Given the description of an element on the screen output the (x, y) to click on. 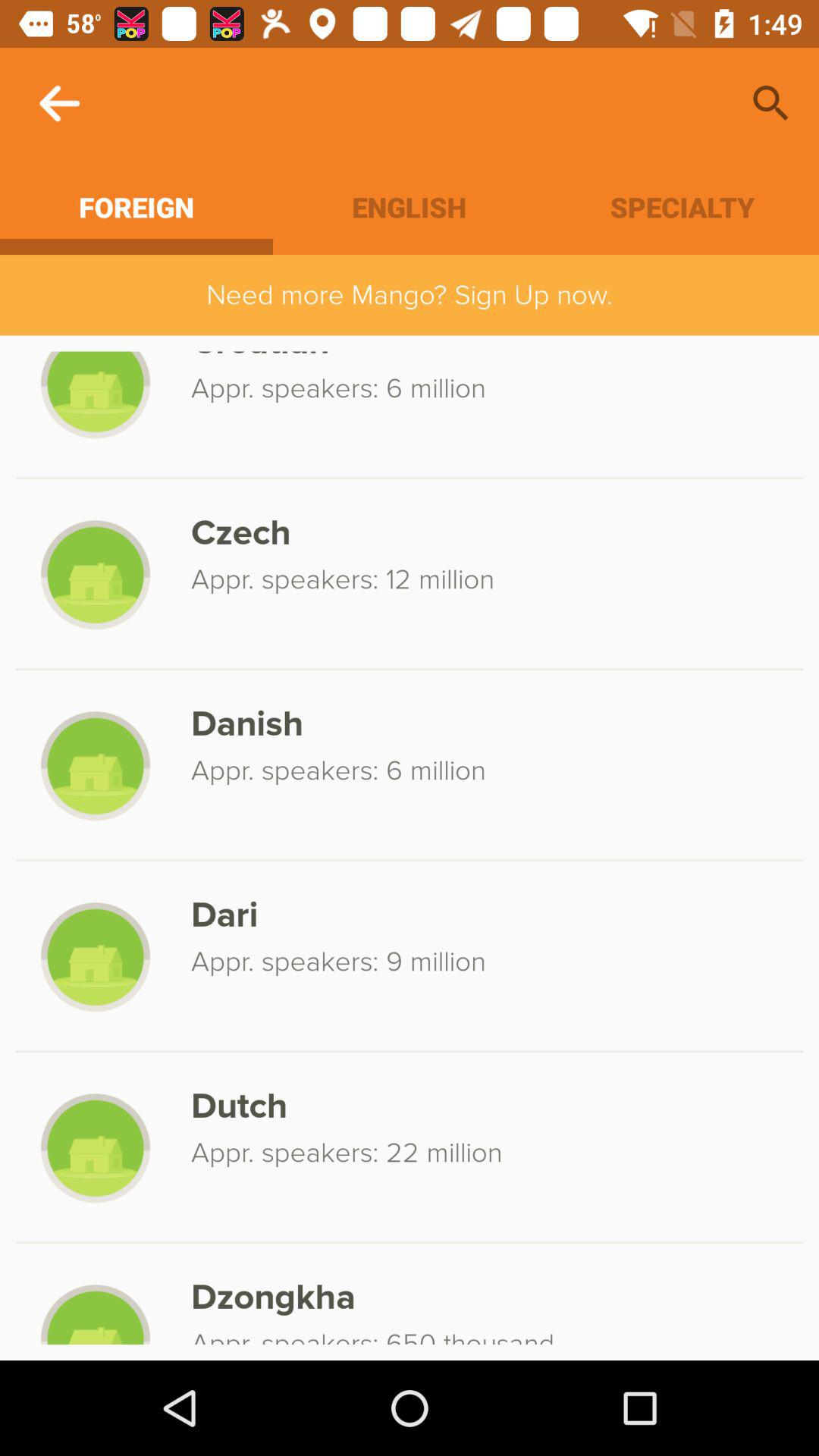
swipe to need more mango (409, 294)
